Given the description of an element on the screen output the (x, y) to click on. 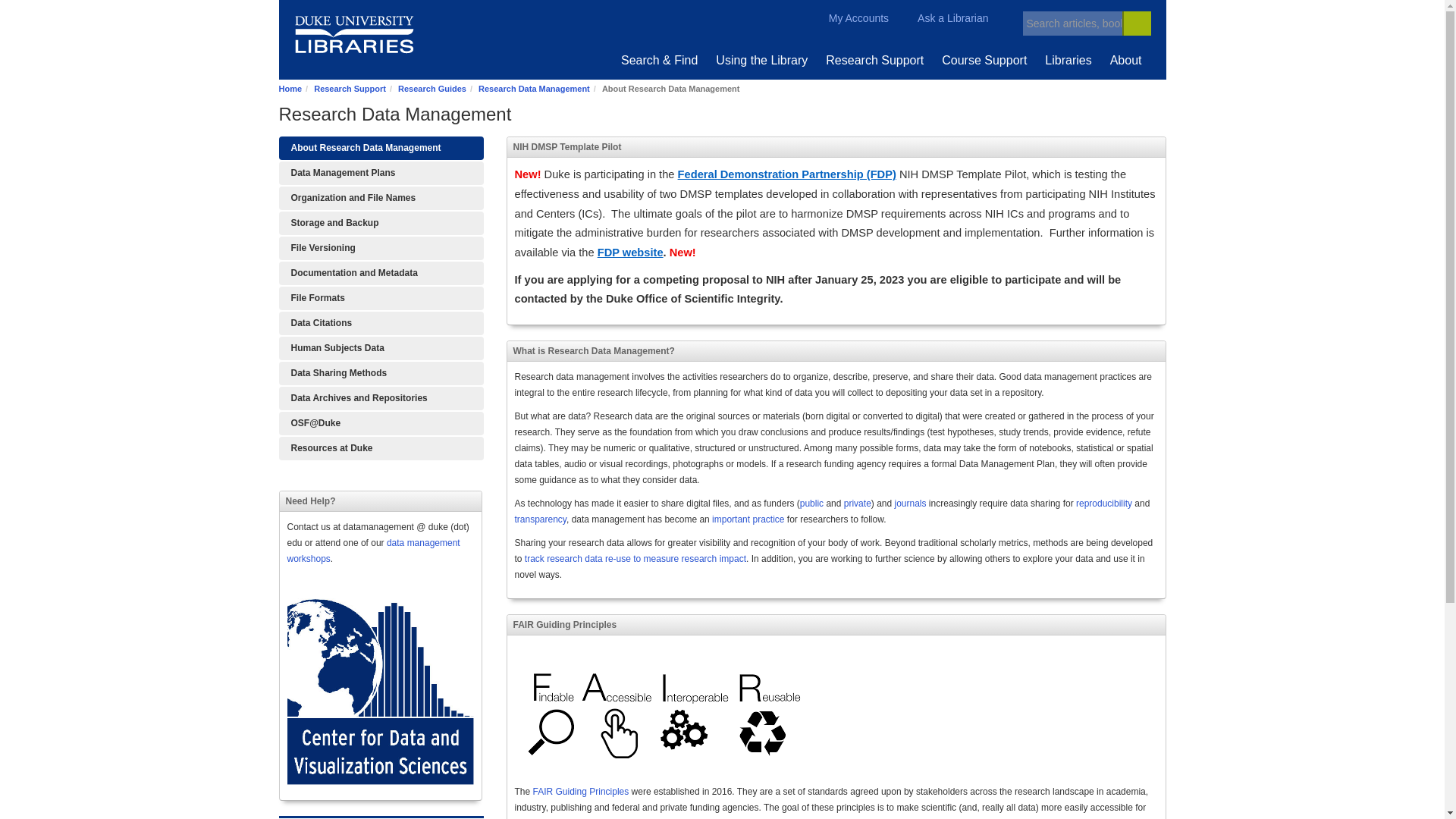
Ask a Librarian (943, 18)
Working with the Open Science Framework at Duke (381, 422)
Information about depositing data into the DDR (381, 398)
Using the Library (762, 60)
My Accounts (849, 18)
